Given the description of an element on the screen output the (x, y) to click on. 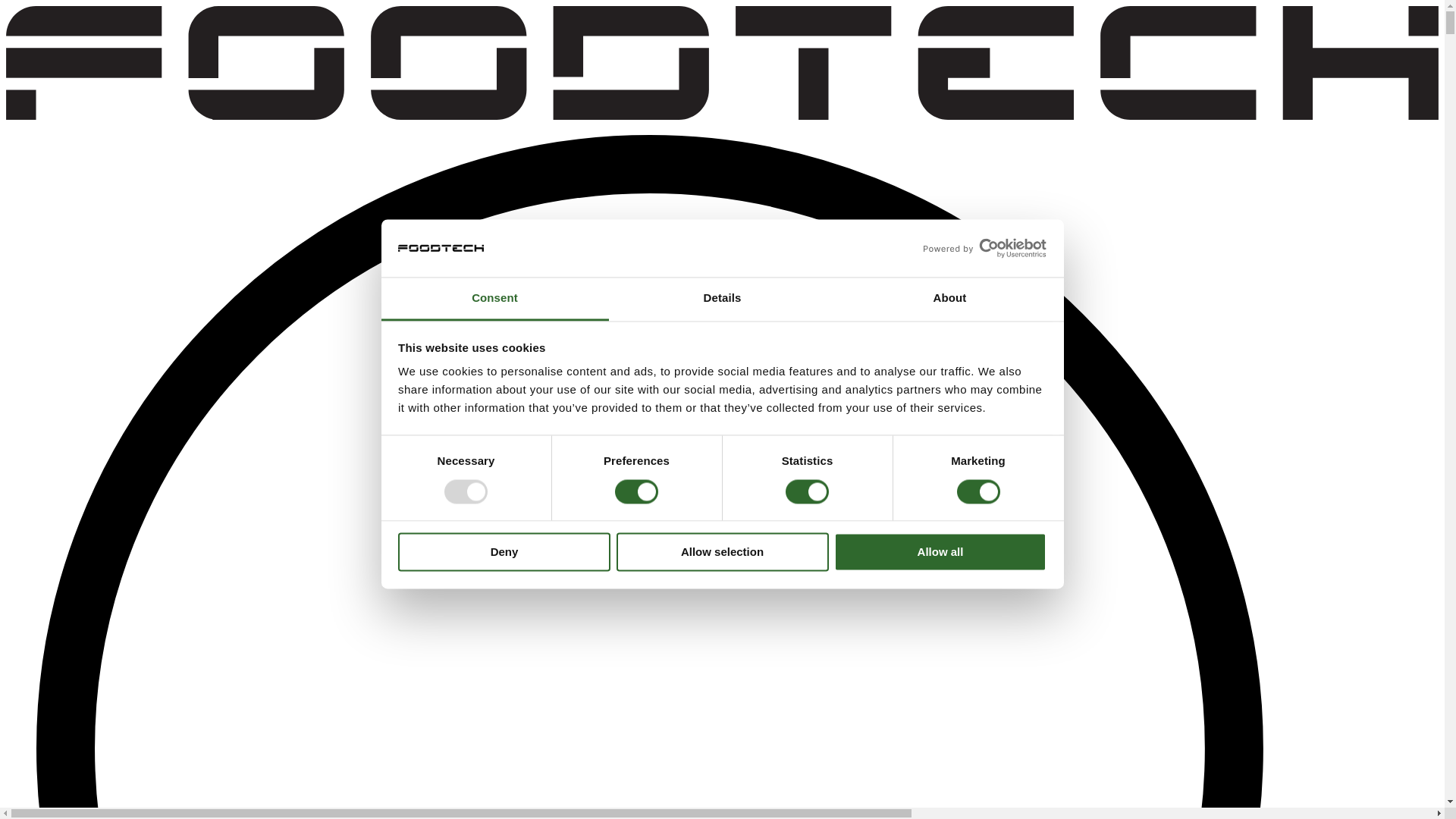
Consent (494, 299)
Details (721, 299)
About (948, 299)
